Given the description of an element on the screen output the (x, y) to click on. 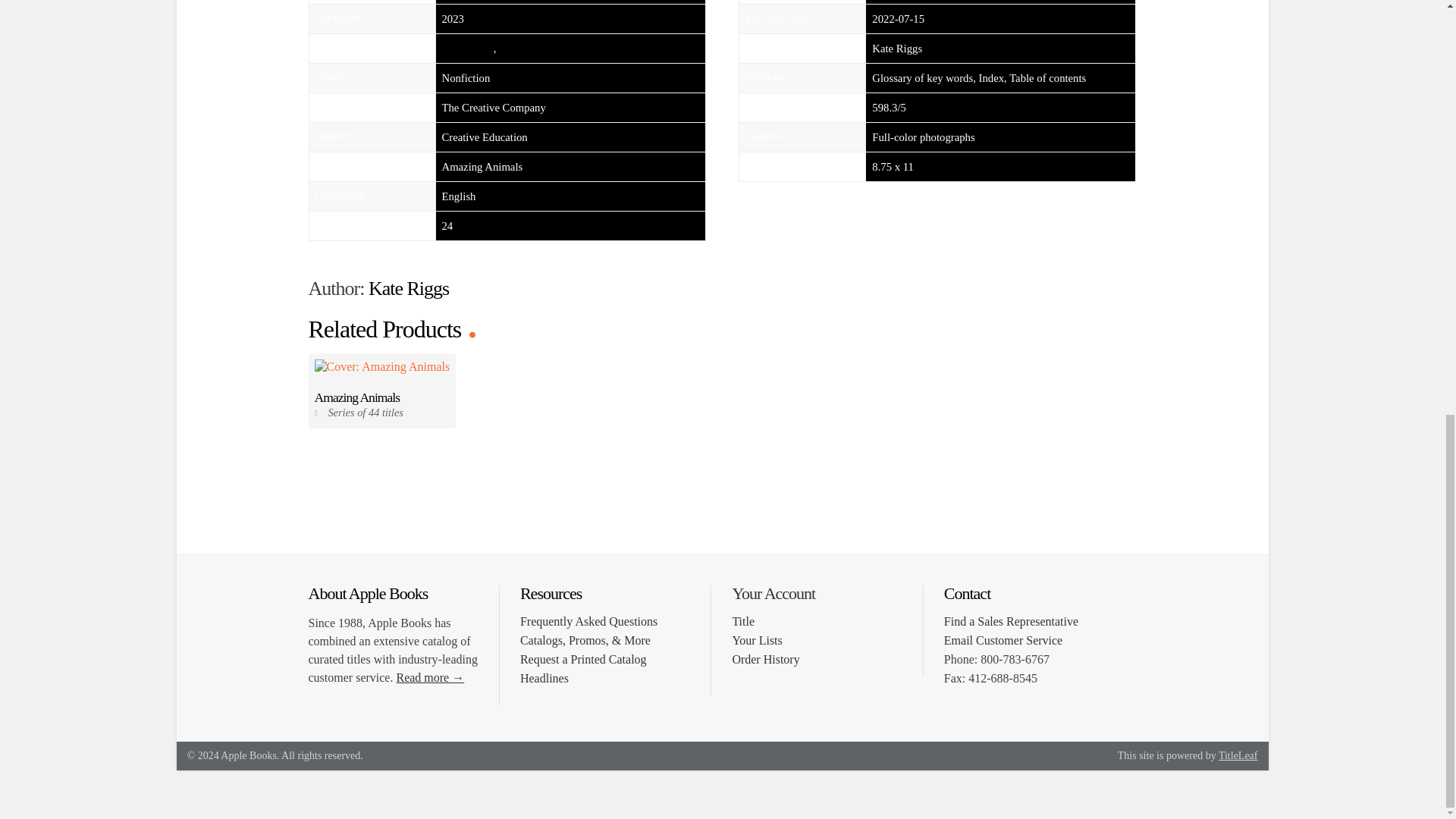
translation missing: en.shop.cart.title (743, 621)
